Given the description of an element on the screen output the (x, y) to click on. 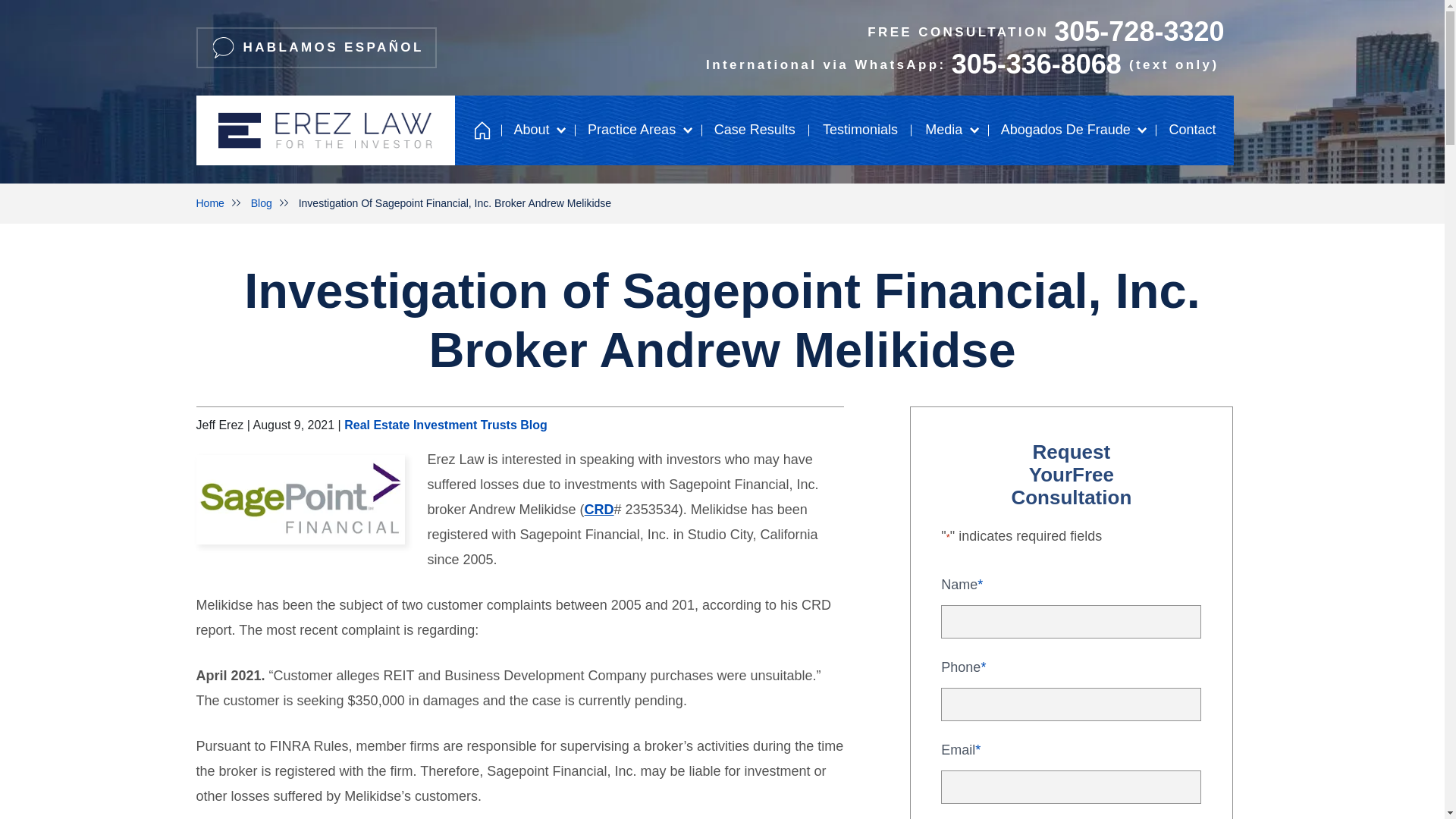
Practice Areas (636, 130)
305-336-8068 (1036, 63)
